Given the description of an element on the screen output the (x, y) to click on. 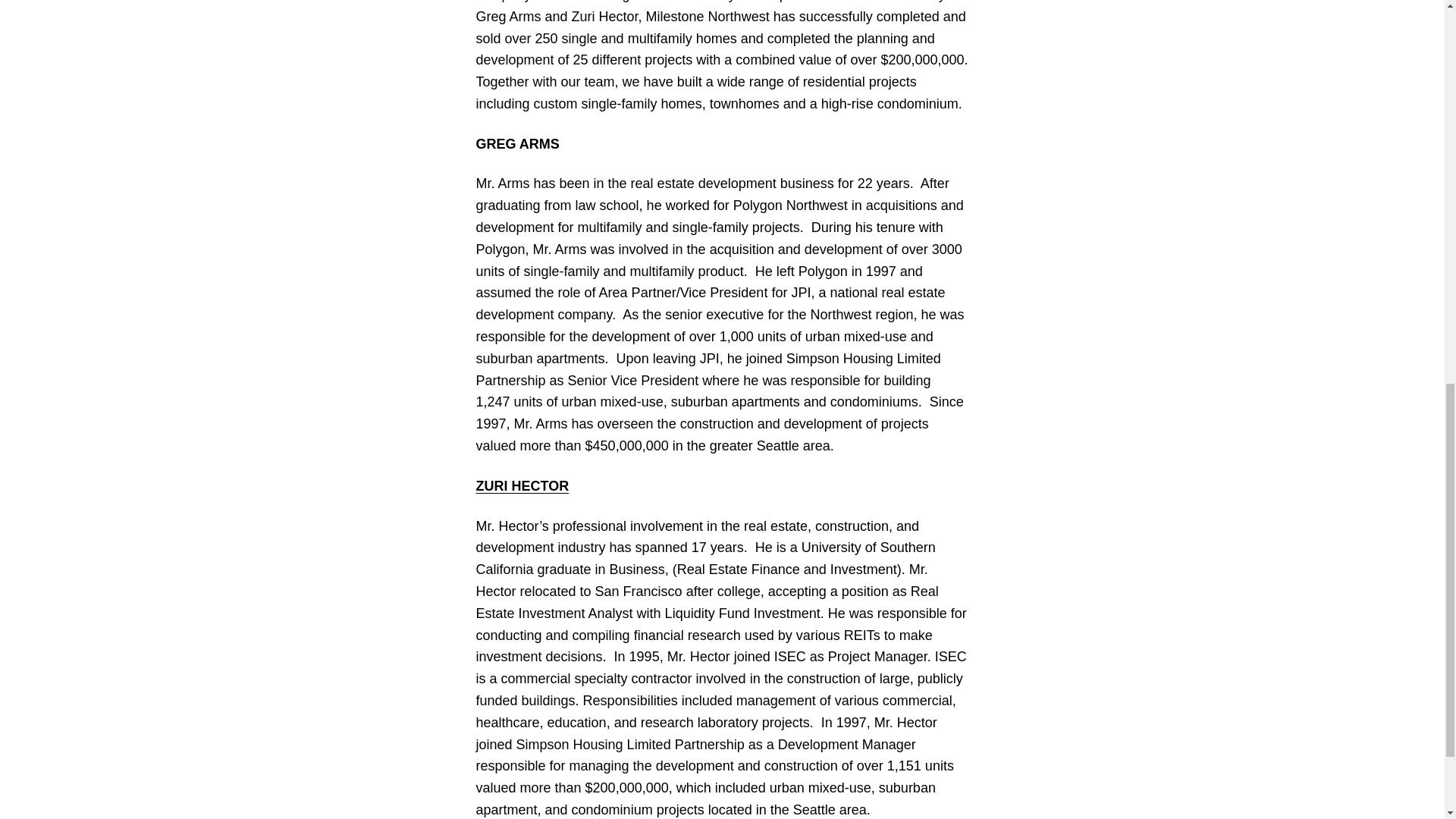
ZURI HECTOR (522, 485)
